Given the description of an element on the screen output the (x, y) to click on. 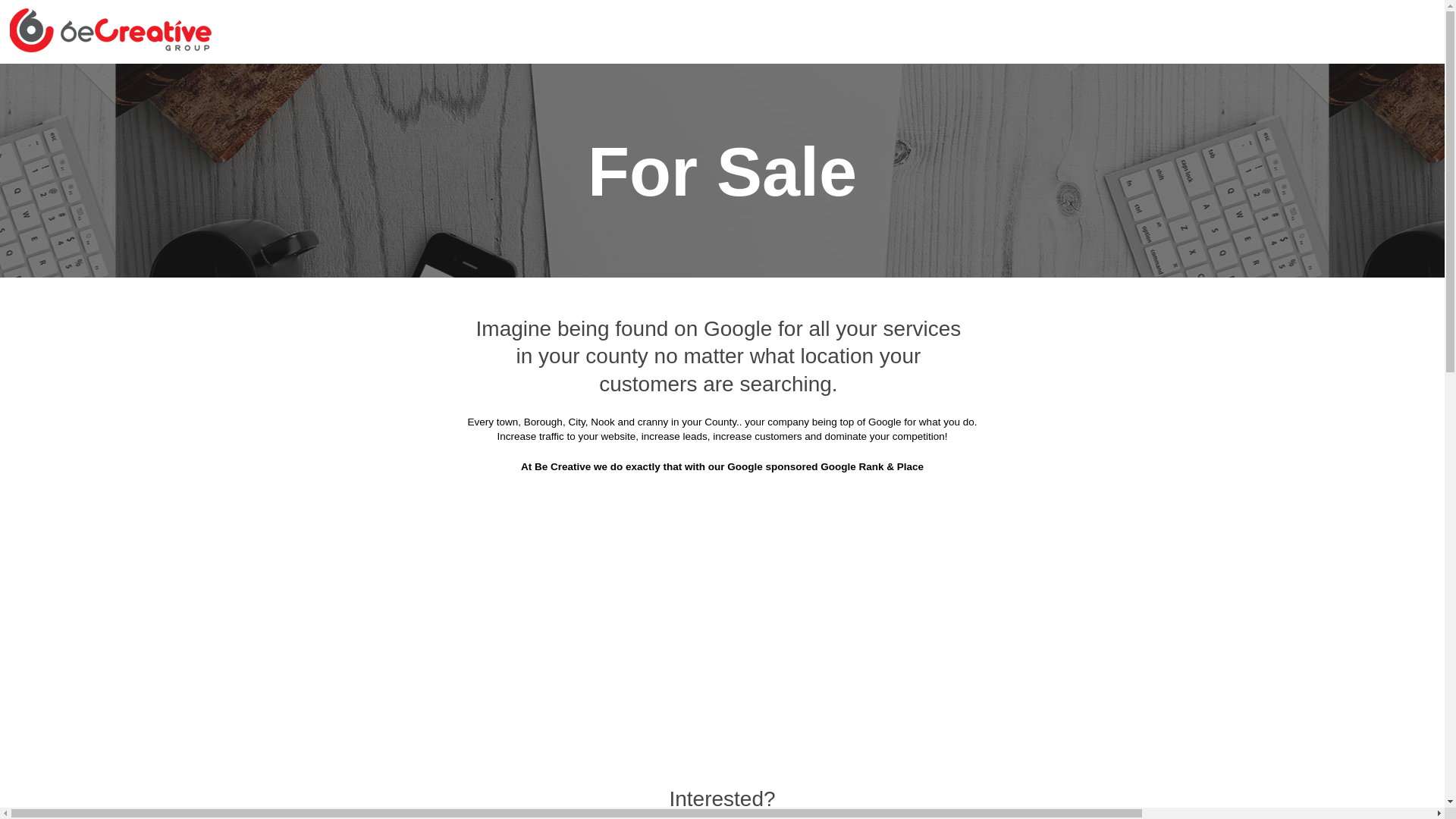
Aggregate Suppliers Brixham Devon (632, 158)
Aggregate Suppliers Falmouth Cornwall (600, 309)
Aggregate Suppliers Axminster Devon (1080, 83)
Aggregate Suppliers Helston Cornwall (850, 346)
Aggregate Suppliers Chudleigh Devon (622, 234)
Aggregate Suppliers Bideford Devon (617, 121)
Aggregate Suppliers Hayle Cornwall (631, 346)
Aggregate Suppliers Cornwall (488, 83)
Aggregate Suppliers Barnstaple Devon (395, 121)
Aggregate Suppliers Bude Cornwall (1086, 158)
Aggregate Suppliers Dartmouth Devon (443, 271)
Aggregate Suppliers Great Torrington Devon (1062, 309)
Aggregate Suppliers Honiton Devon (405, 383)
Aggregate Suppliers Bodmin Cornwall (837, 121)
Aggregate Suppliers Camborne Cornwall (1072, 196)
